Given the description of an element on the screen output the (x, y) to click on. 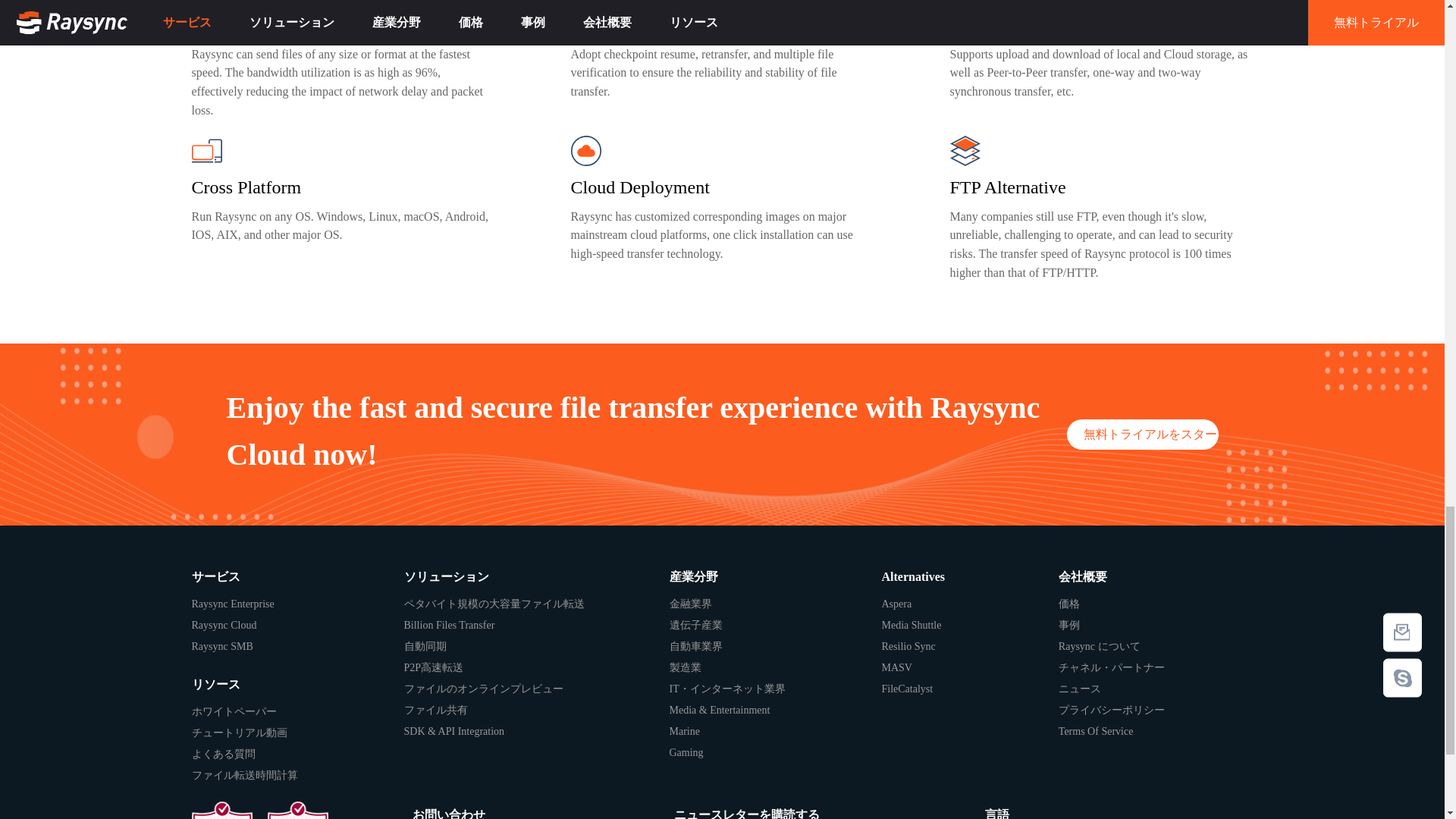
Raysync SMB (296, 646)
Raysync Cloud (296, 625)
Raysync Enterprise (296, 604)
